Given the description of an element on the screen output the (x, y) to click on. 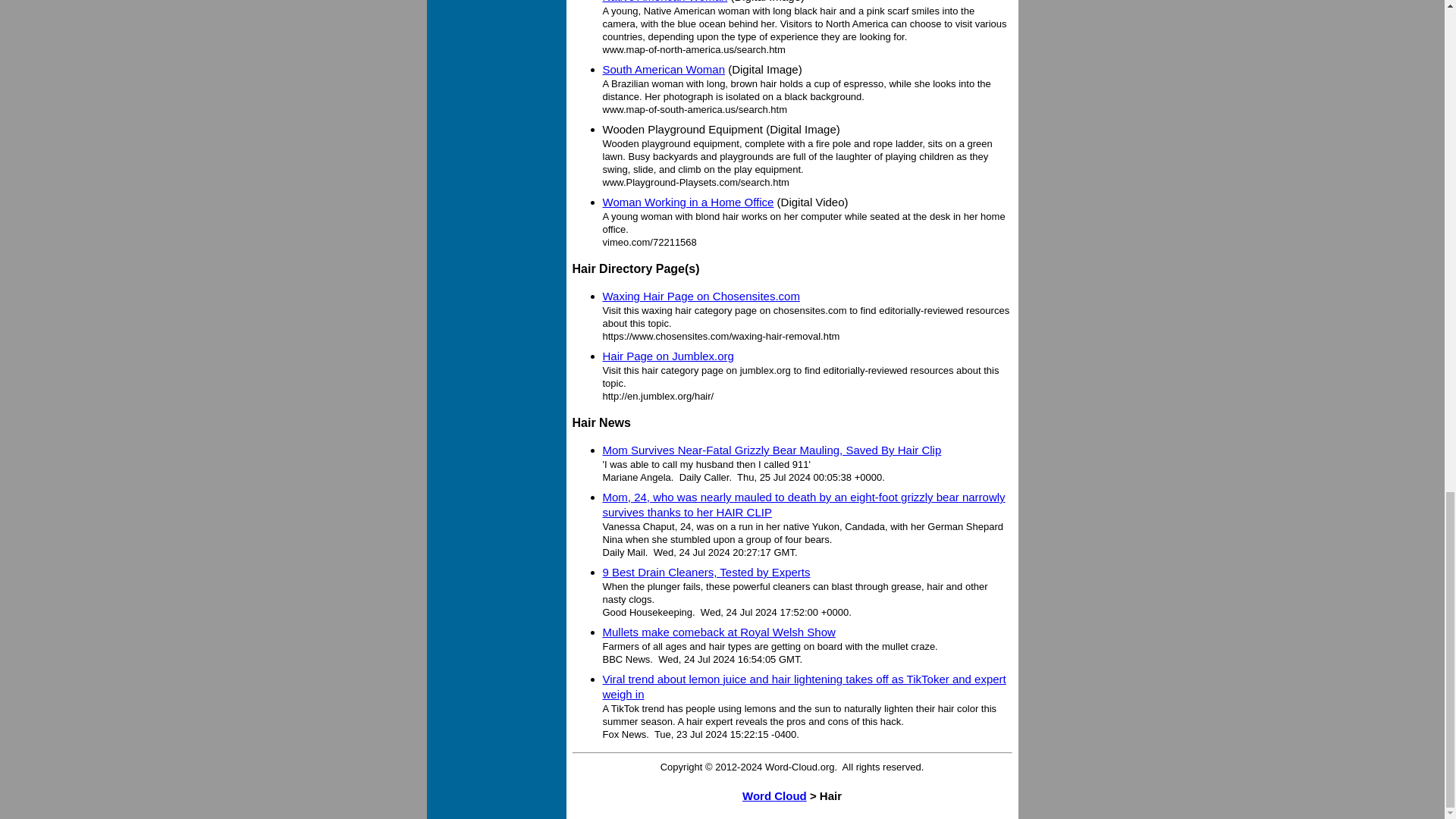
Woman Working in a Home Office (687, 201)
Word Cloud (774, 795)
Mullets make comeback at Royal Welsh Show (718, 631)
9 Best Drain Cleaners, Tested by Experts (705, 571)
Native American Woman (664, 1)
Waxing Hair Page on Chosensites.com (700, 295)
South American Woman (662, 69)
Hair Page on Jumblex.org (667, 355)
